Given the description of an element on the screen output the (x, y) to click on. 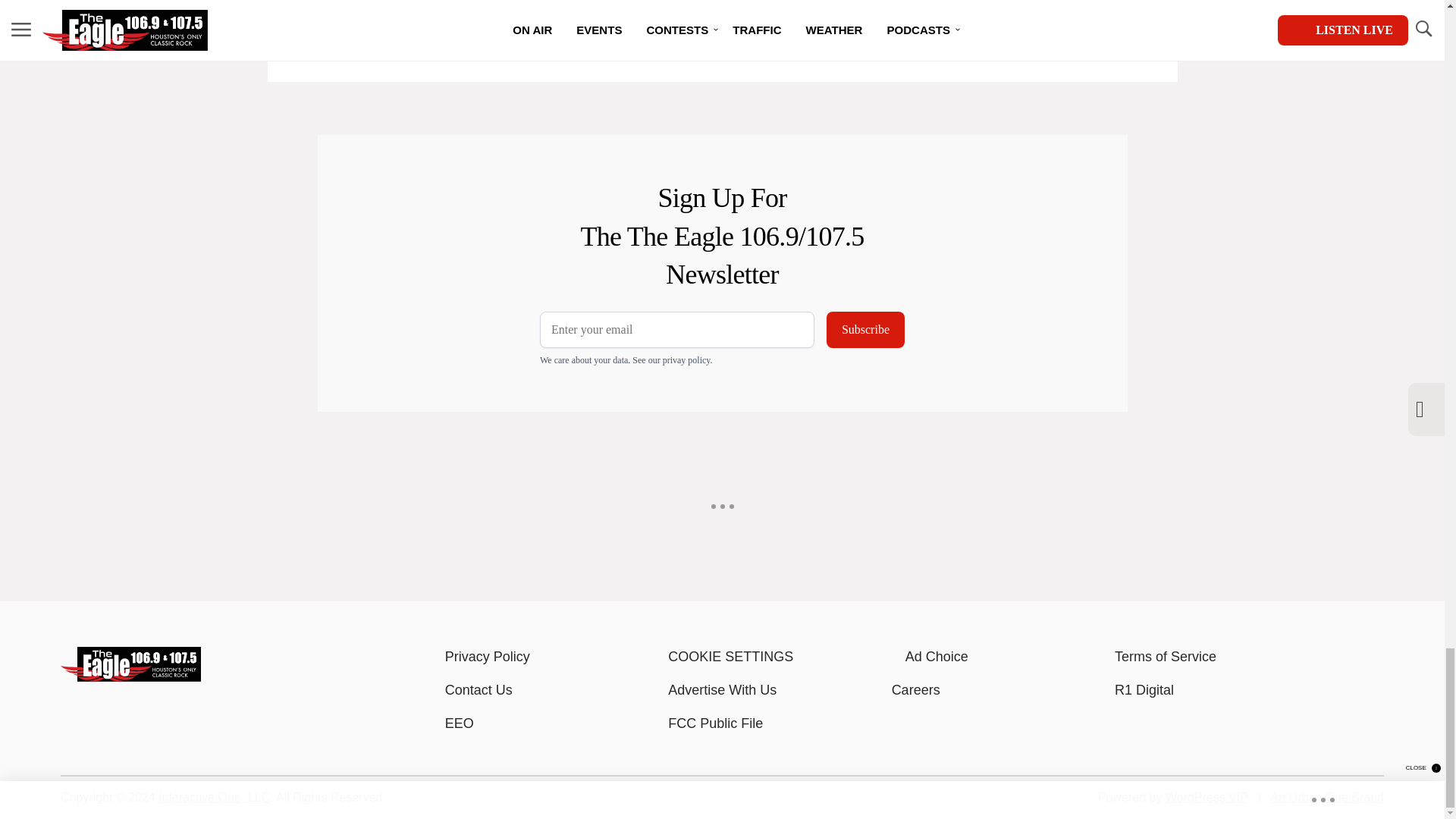
privay policy (686, 359)
Subscribe (865, 330)
